Given the description of an element on the screen output the (x, y) to click on. 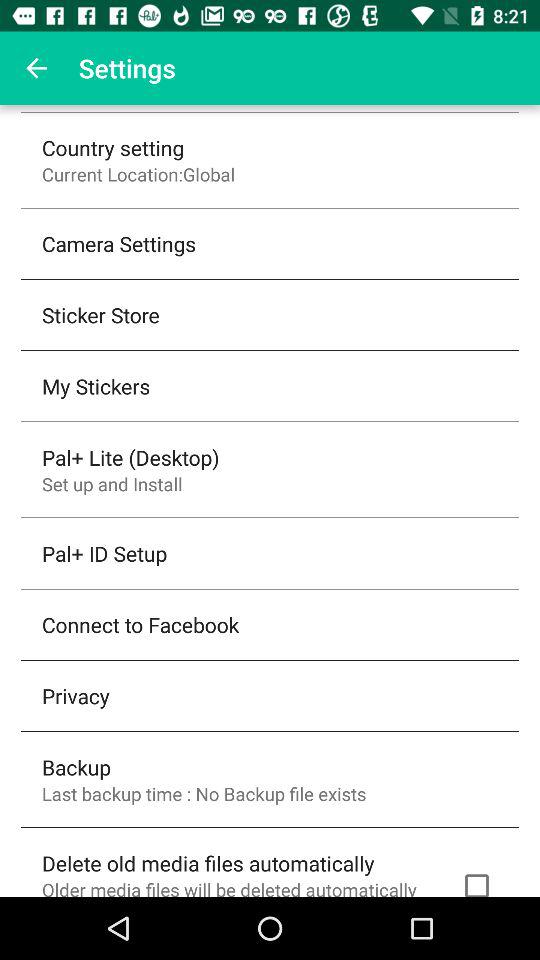
jump to the sticker store (100, 314)
